Given the description of an element on the screen output the (x, y) to click on. 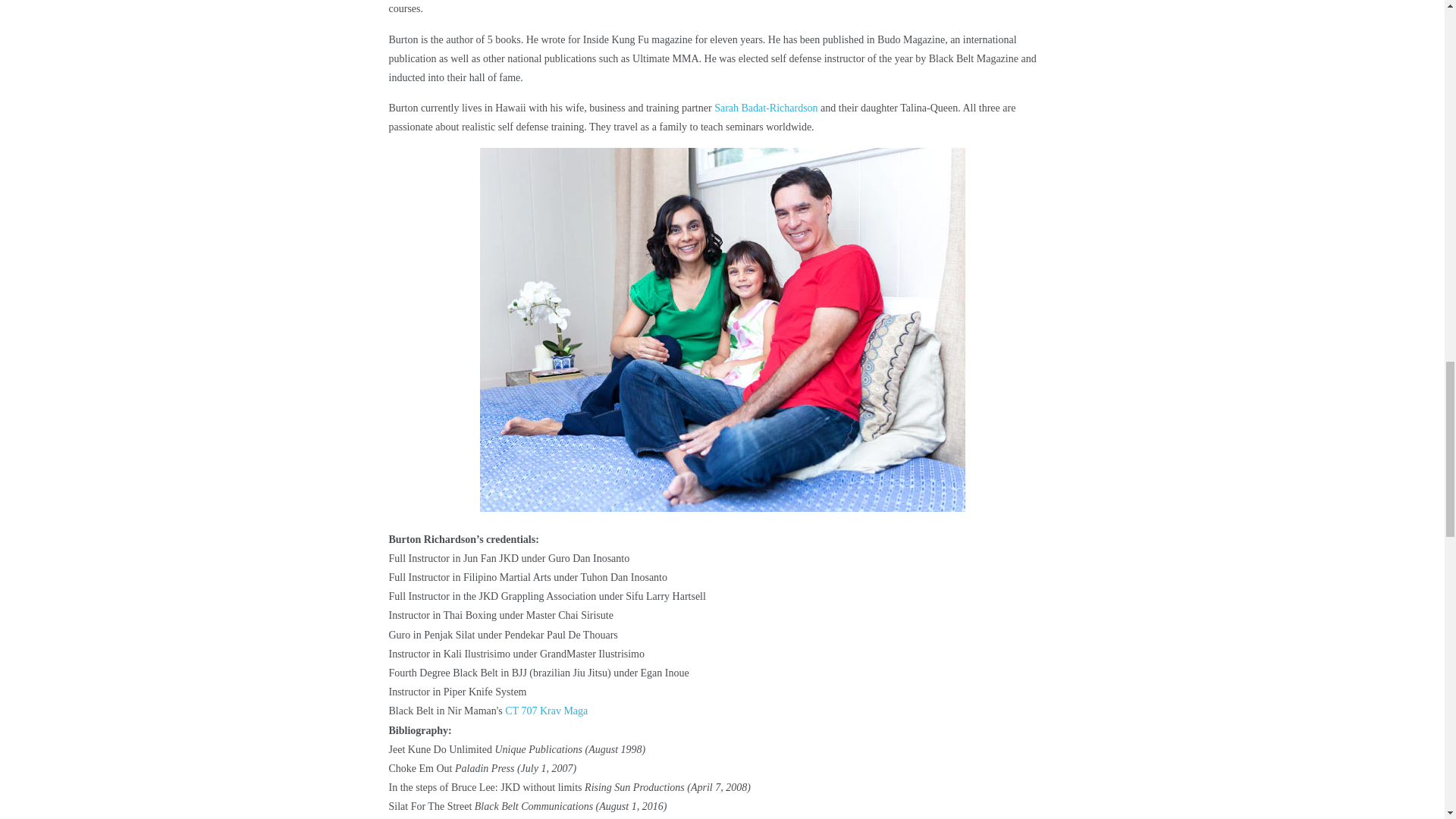
Sarah Badat-Richardson (765, 107)
Visit Sarah Badat Richardson's website (765, 107)
Access Nir Maman's CT 707 Krav Maga website (546, 710)
